Given the description of an element on the screen output the (x, y) to click on. 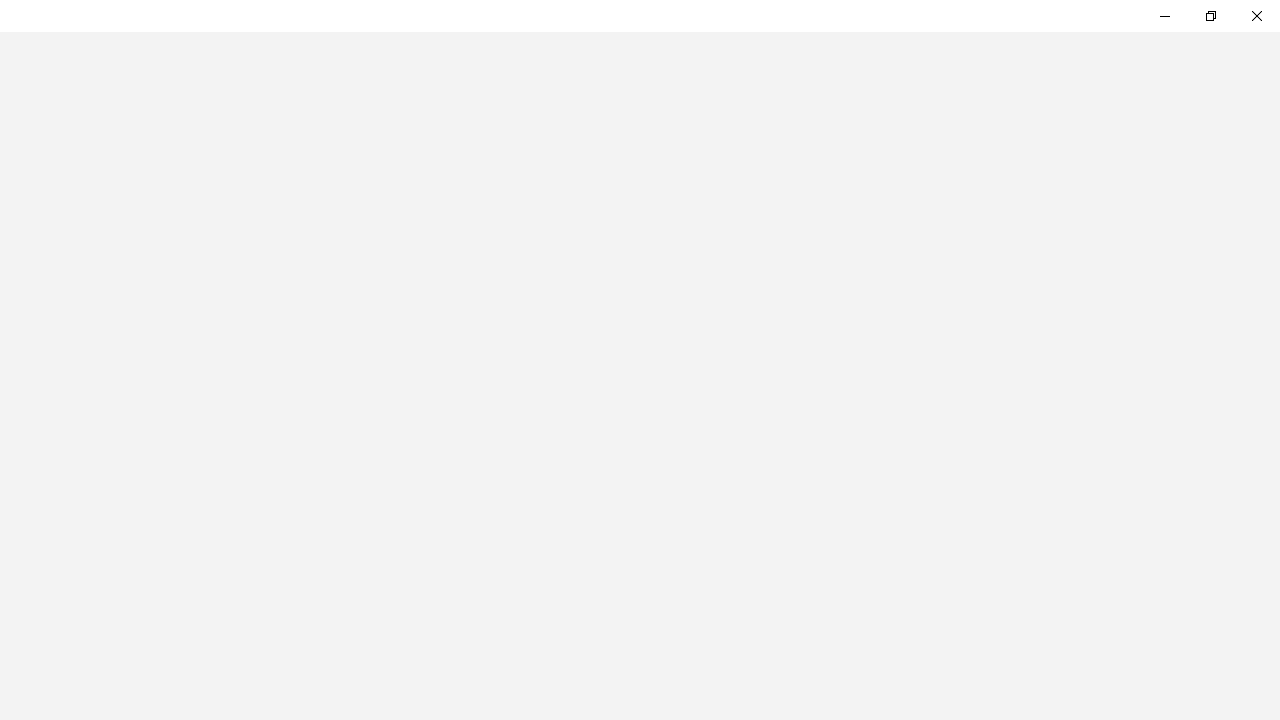
Minimize Feedback Hub (1164, 15)
Close Feedback Hub (1256, 15)
Vertical Small Decrease (1272, 86)
Restore Feedback Hub (1210, 15)
